Given the description of an element on the screen output the (x, y) to click on. 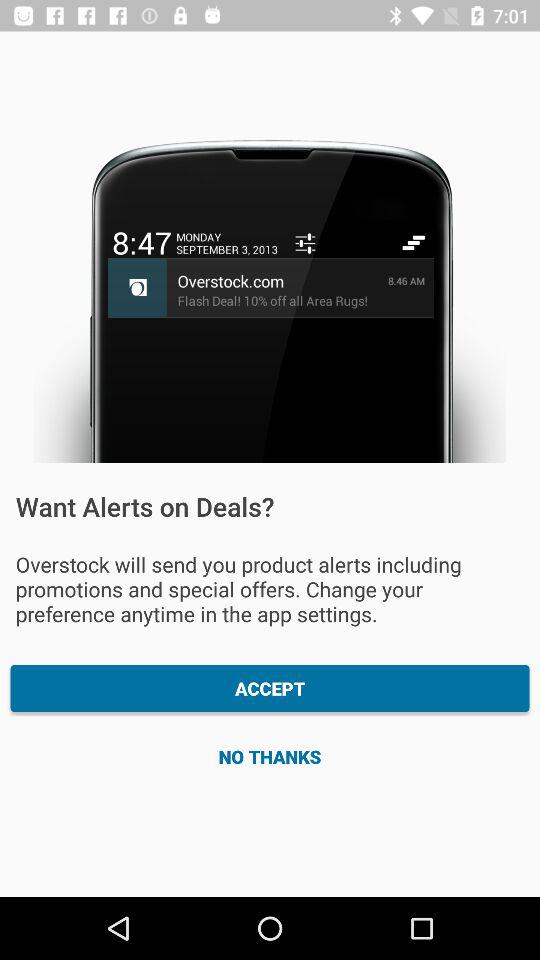
choose icon above the no thanks item (269, 688)
